Given the description of an element on the screen output the (x, y) to click on. 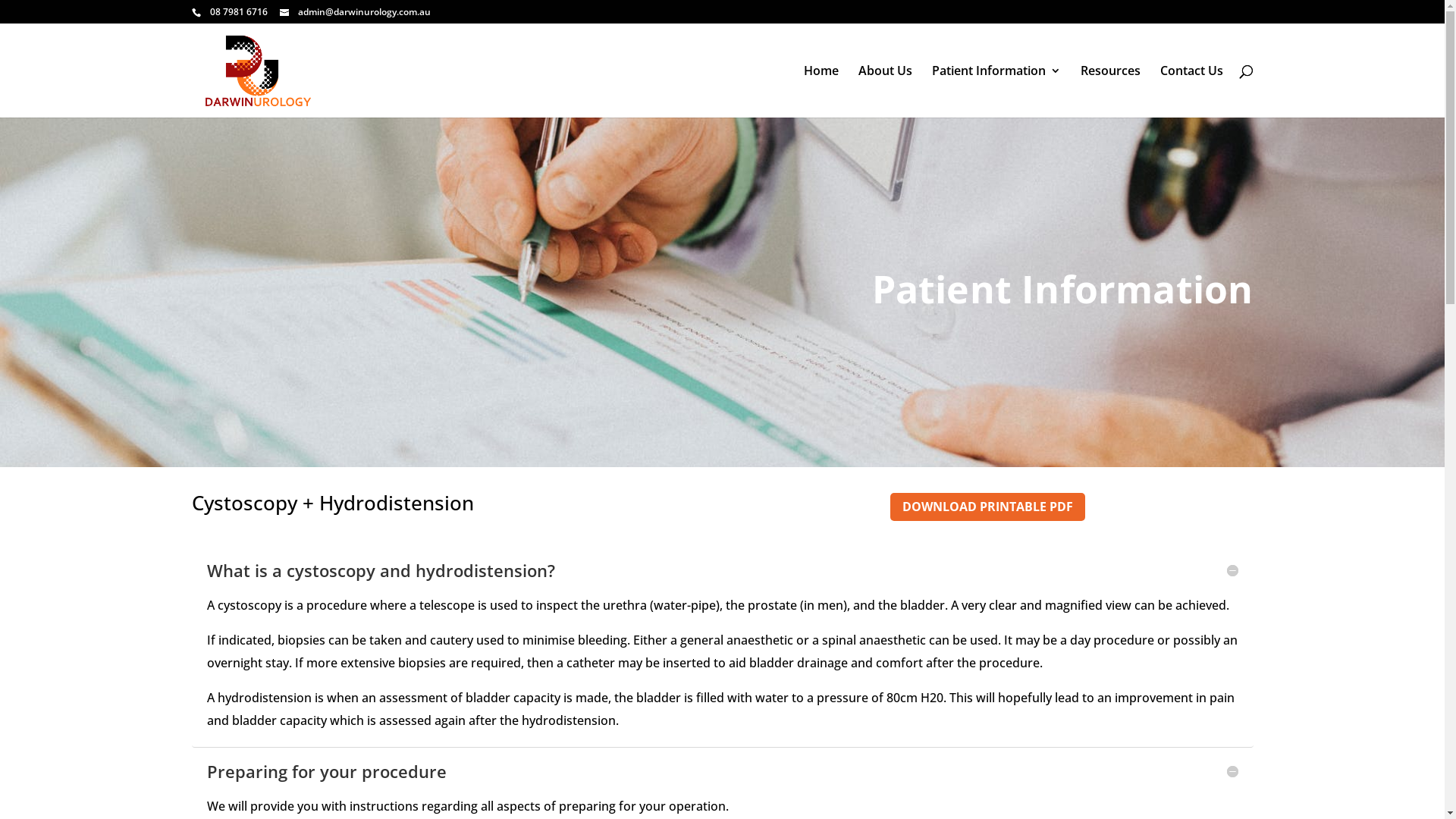
About Us Element type: text (885, 87)
Contact Us Element type: text (1191, 87)
DOWNLOAD PRINTABLE PDF Element type: text (987, 506)
Patient Information Element type: text (995, 87)
Resources Element type: text (1109, 87)
Home Element type: text (820, 87)
admin@darwinurology.com.au Element type: text (354, 11)
